Given the description of an element on the screen output the (x, y) to click on. 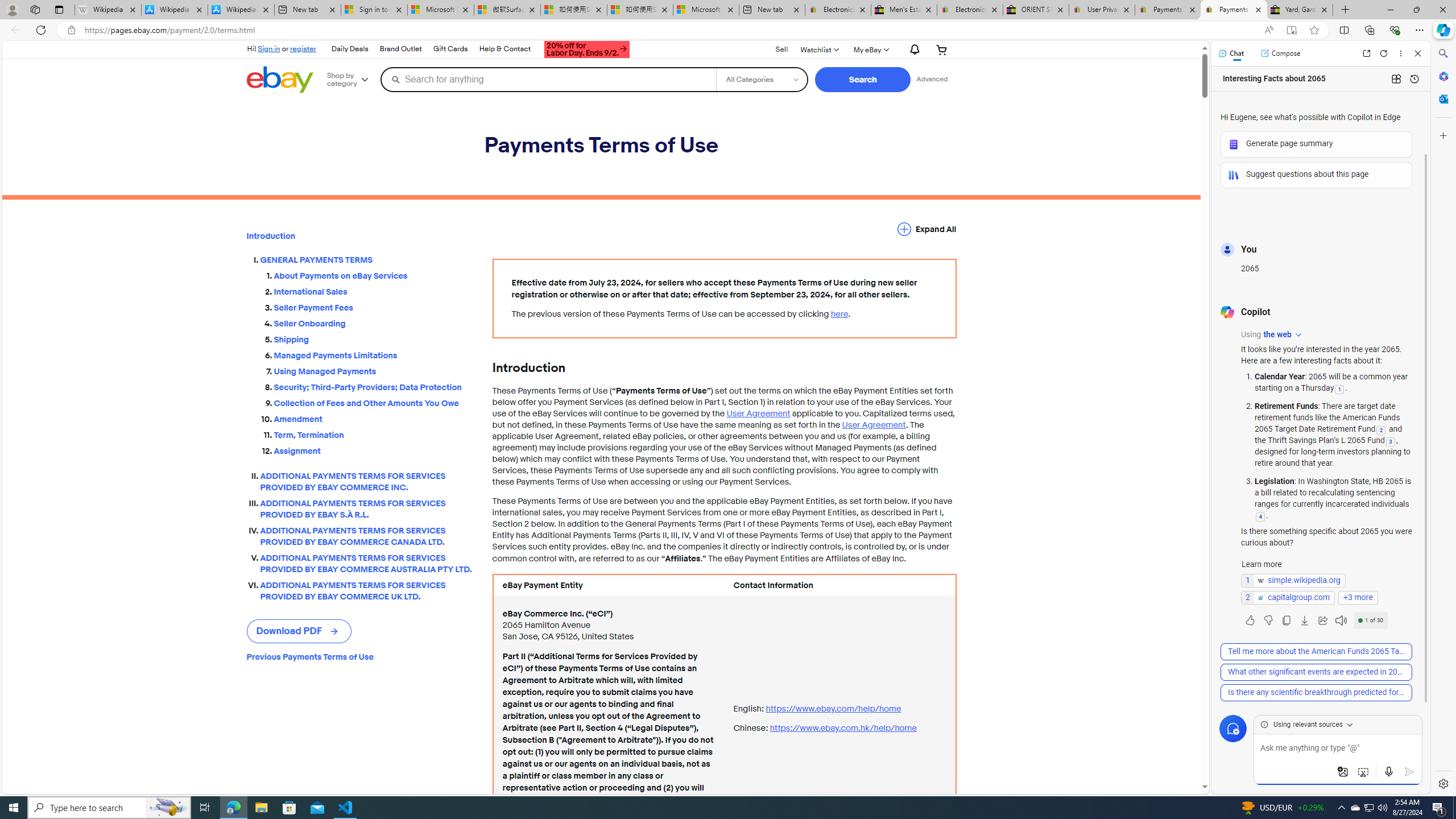
Gift Cards (449, 49)
Brand Outlet (399, 49)
Using Managed Payments (373, 369)
Daily Deals (349, 49)
Term, Termination (373, 435)
Seller Payment Fees (373, 307)
Previous Payments Terms of Use (360, 657)
